Given the description of an element on the screen output the (x, y) to click on. 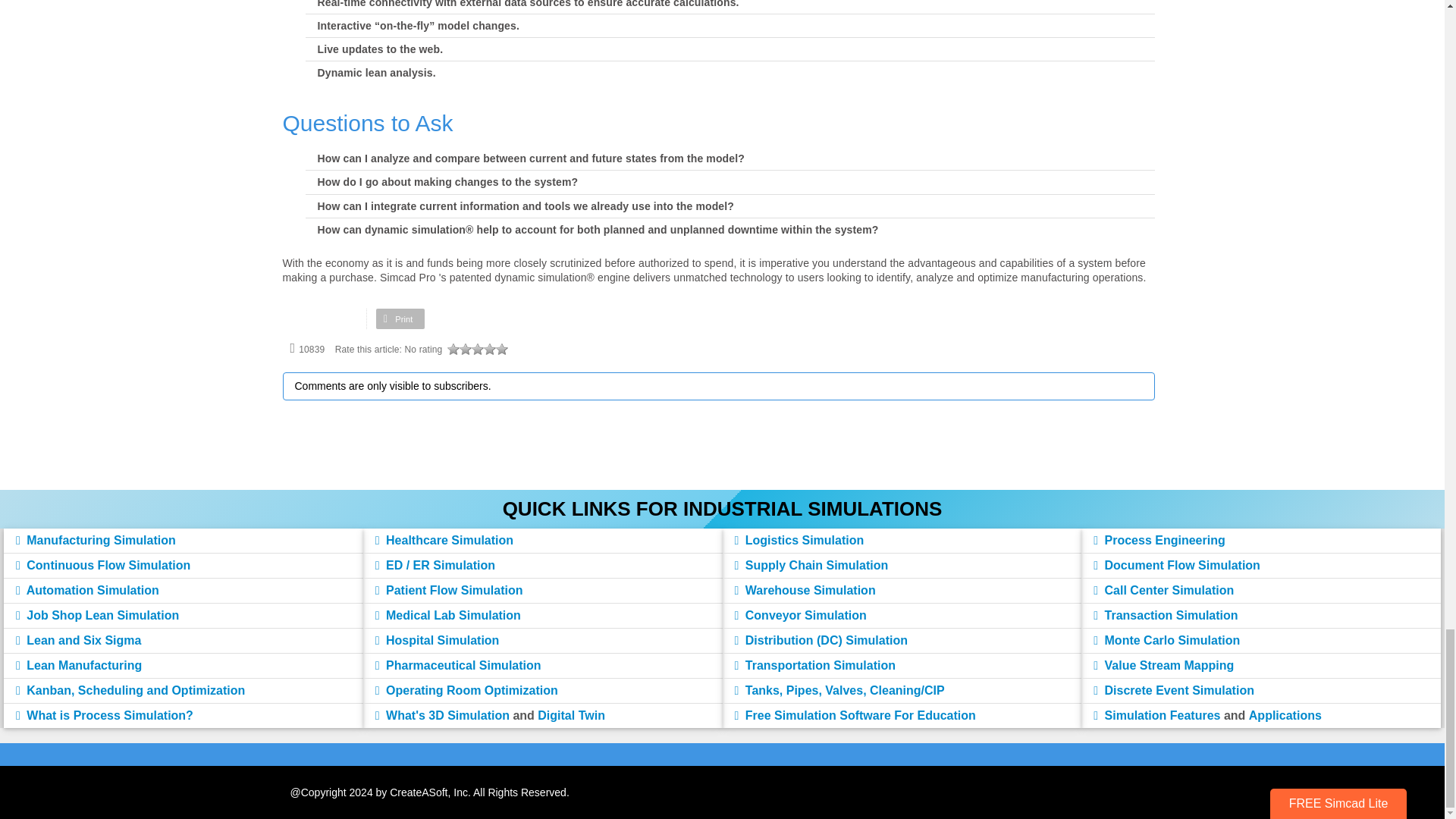
  Manufacturing Simulation (96, 540)
  Kanban, Scheduling and Optimization (130, 689)
  Lean and Six Sigma (78, 640)
  What is Process Simulation? (104, 715)
  Lean Manufacturing (78, 665)
  Automation Simulation (87, 590)
  Continuous Flow Simulation (103, 564)
  Job Shop Lean Simulation (97, 615)
